Given the description of an element on the screen output the (x, y) to click on. 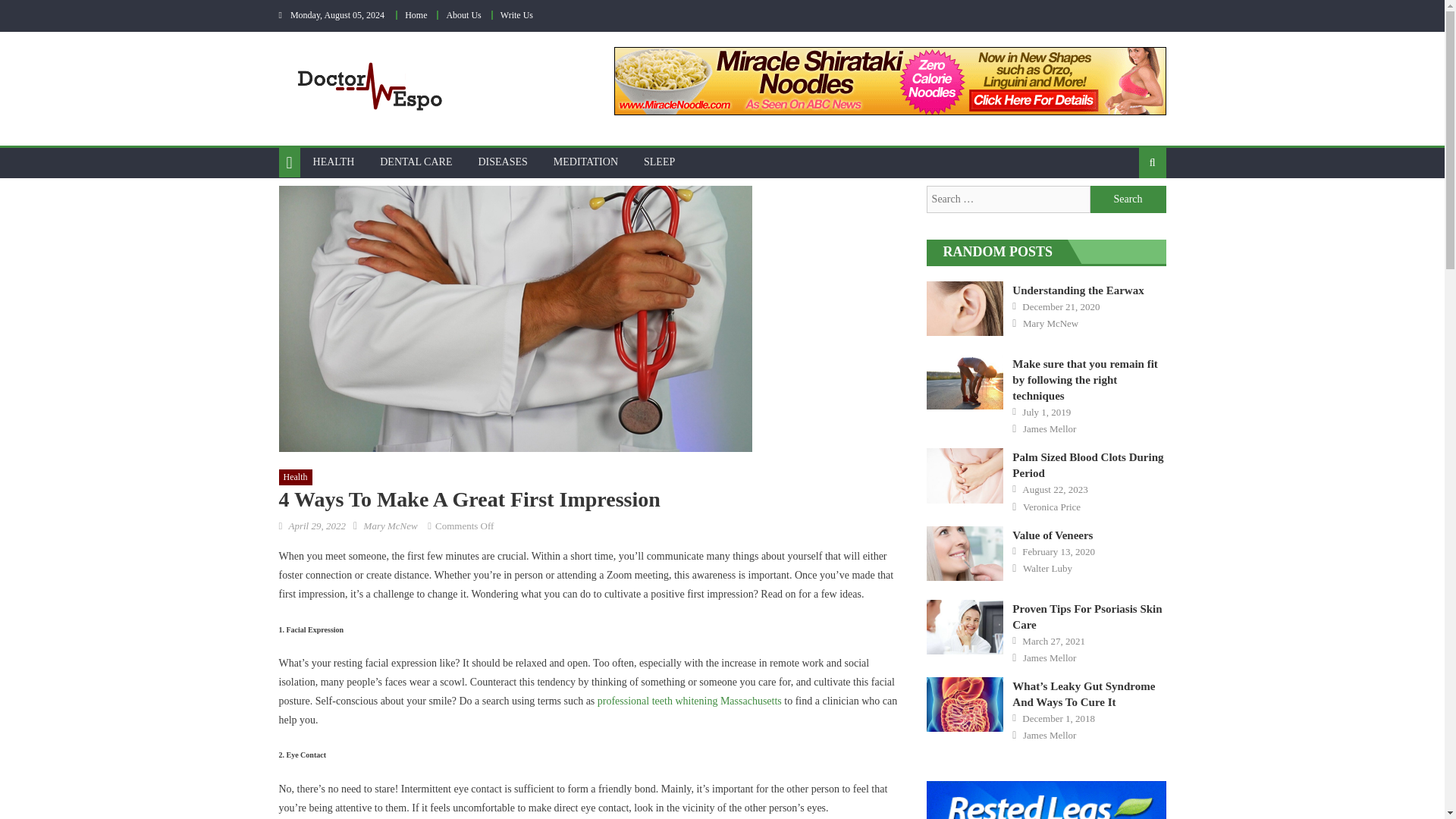
Proven Tips For Psoriasis Skin Care (964, 626)
Value of Veneers (1052, 535)
Veronica Price (1051, 507)
MEDITATION (584, 162)
Home (415, 14)
December 21, 2020 (1060, 306)
Palm Sized Blood Clots During Period (964, 474)
July 1, 2019 (1046, 412)
Health (296, 477)
DENTAL CARE (415, 162)
About Us (462, 14)
DISEASES (501, 162)
April 29, 2022 (316, 525)
Understanding the Earwax (964, 308)
Search (1128, 198)
